Given the description of an element on the screen output the (x, y) to click on. 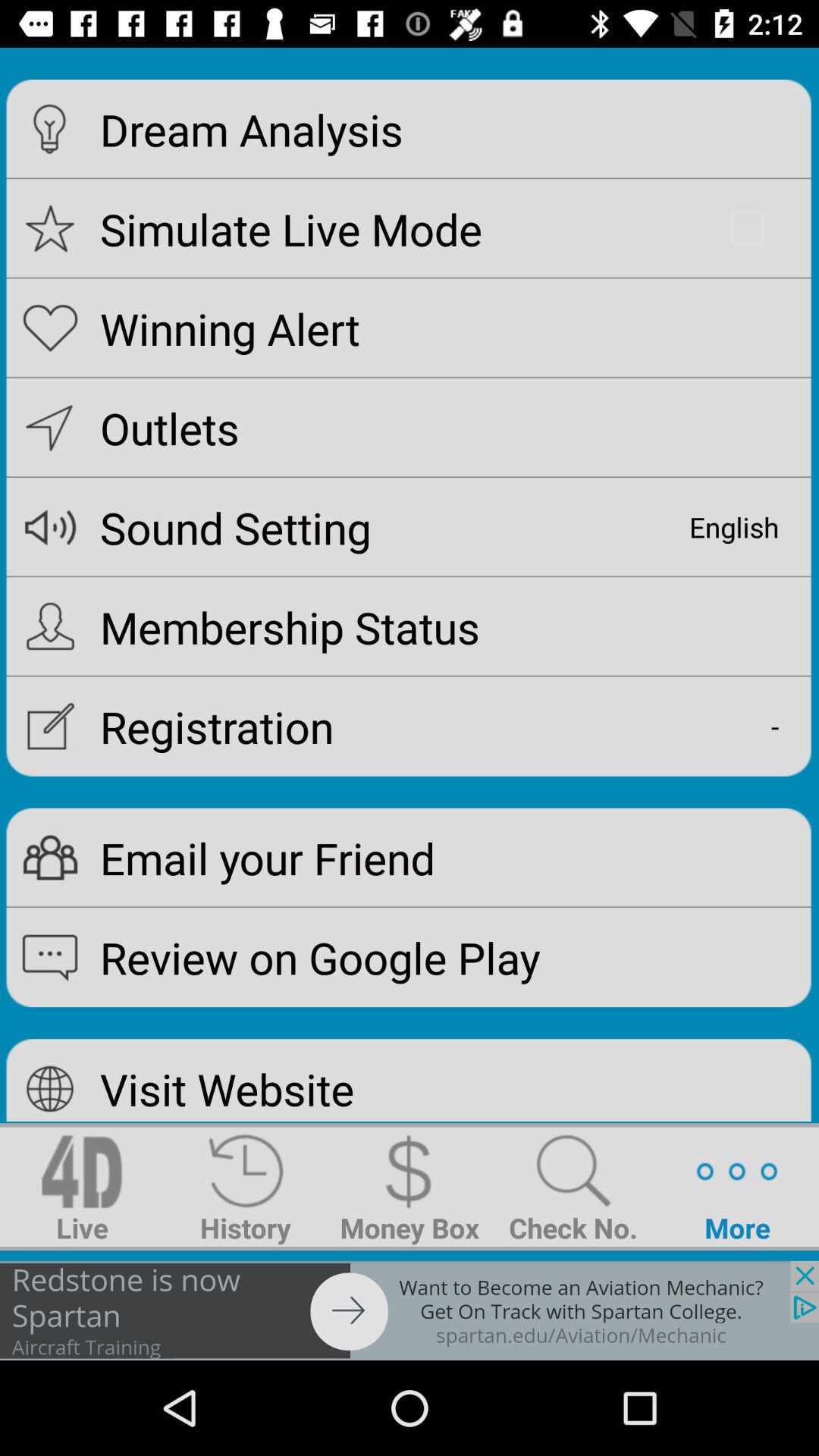
open advertisement (409, 1310)
